Given the description of an element on the screen output the (x, y) to click on. 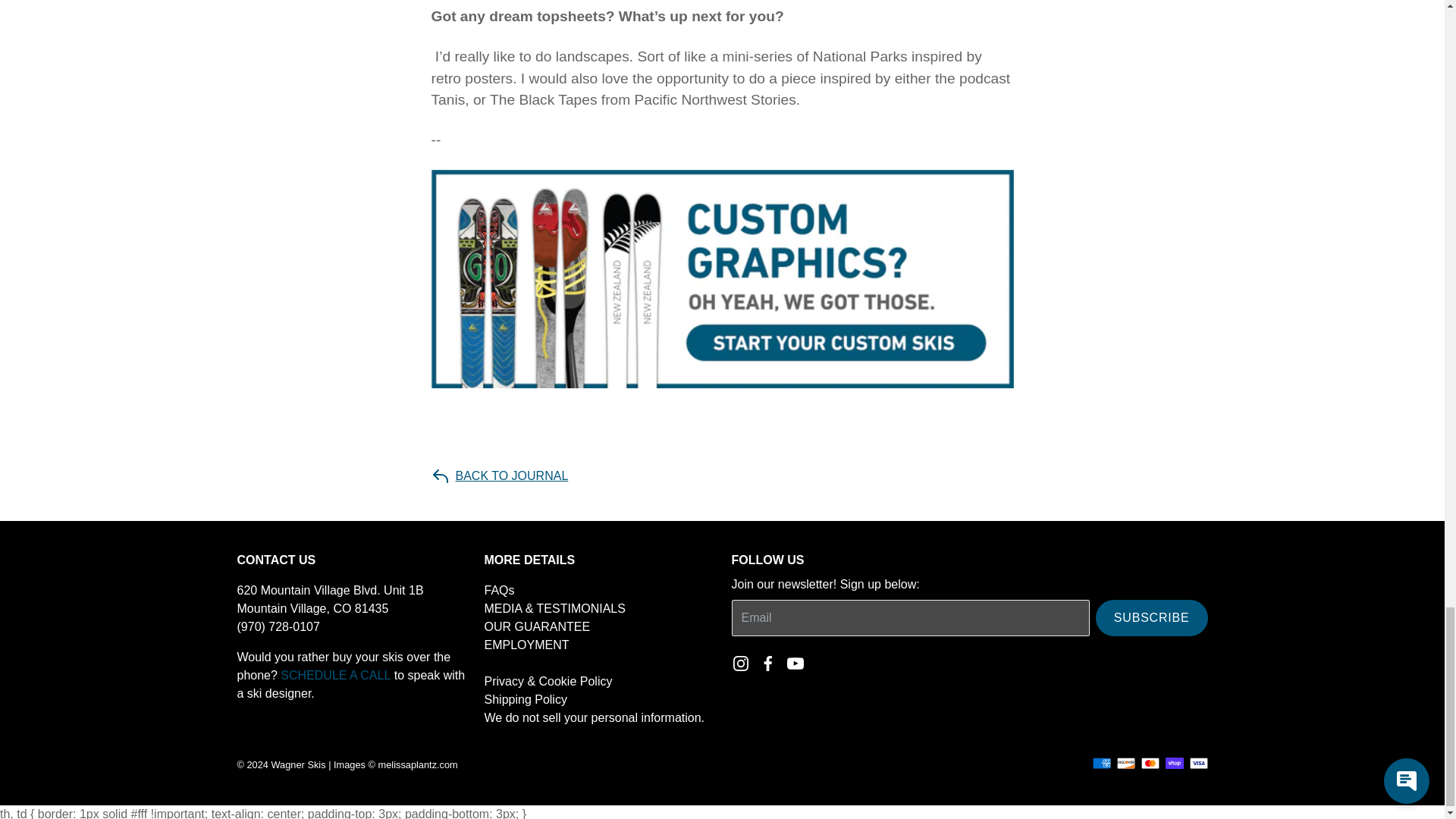
SCHEDULE A CALL (335, 675)
EMPLOYMENT (526, 644)
Subscribe (1152, 617)
Shipping Policy (524, 698)
Schedule a Call (335, 675)
BACK TO JOURNAL (498, 475)
Schedule a Call (721, 278)
SUBSCRIBE (1152, 617)
OUR GUARANTEE (536, 626)
We do not sell your personal information. (593, 717)
melissaplantz.com (418, 764)
FAQs (498, 590)
